Given the description of an element on the screen output the (x, y) to click on. 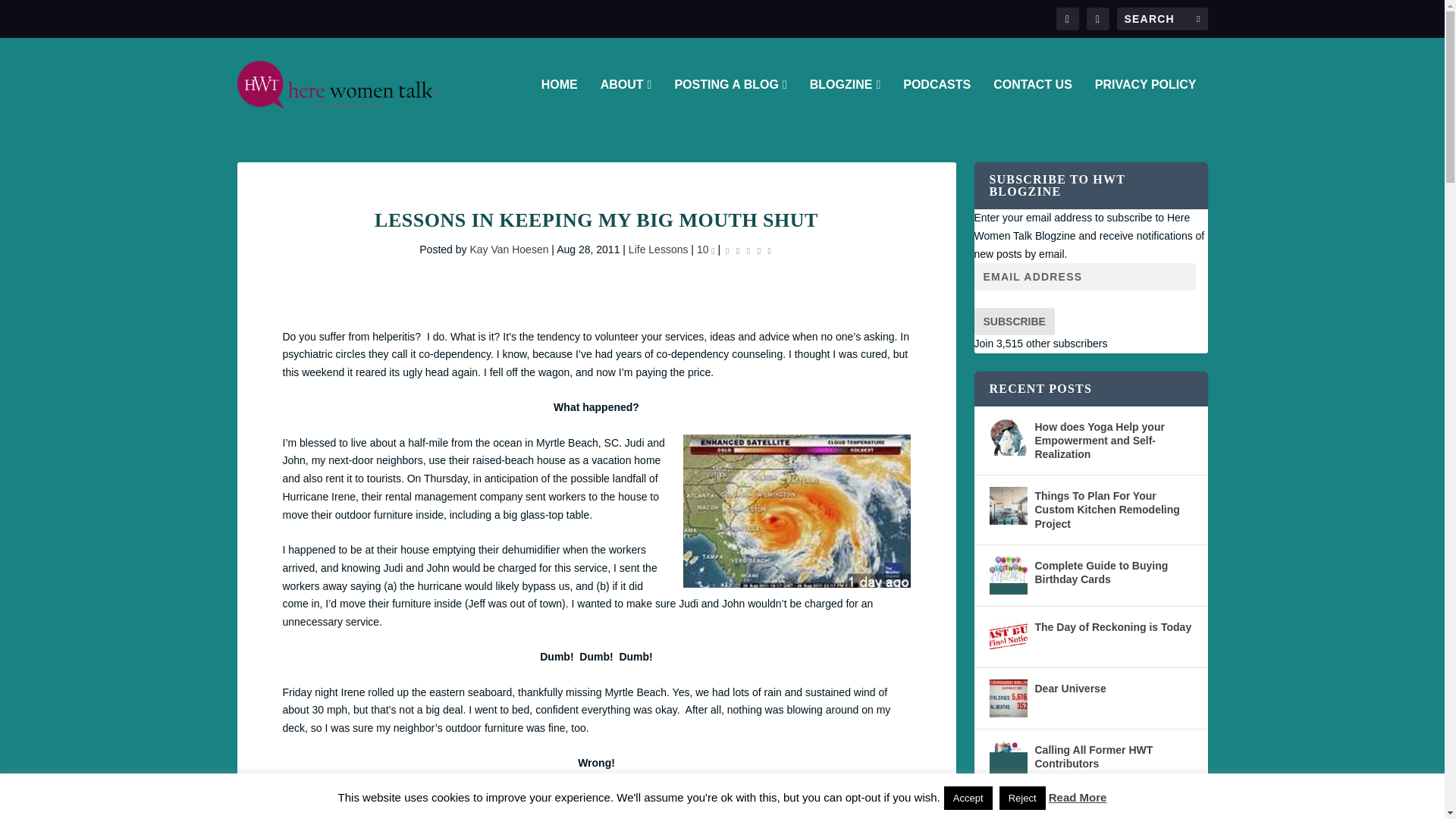
Shattered glass (400, 807)
POSTING A BLOG (730, 104)
10 (705, 249)
hurricane irene (796, 511)
Kay Van Hoesen (508, 249)
Life Lessons (658, 249)
Posts by Kay Van Hoesen (508, 249)
CONTACT US (1031, 104)
ABOUT (625, 104)
BLOGZINE (844, 104)
PRIVACY POLICY (1145, 104)
PODCASTS (936, 104)
Rating: 0.00 (748, 250)
Search for: (1161, 18)
